Given the description of an element on the screen output the (x, y) to click on. 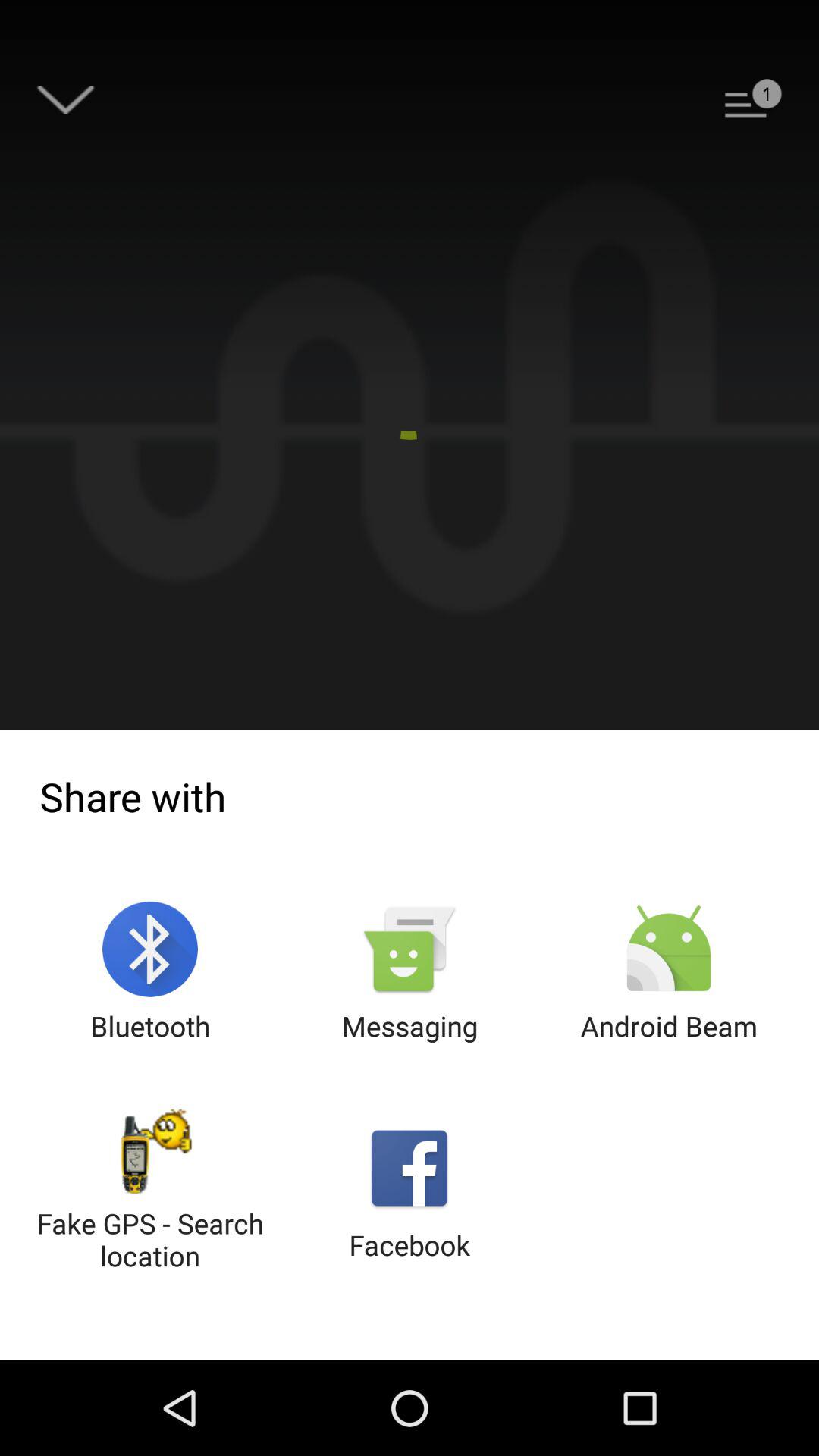
turn off the bluetooth (150, 972)
